Given the description of an element on the screen output the (x, y) to click on. 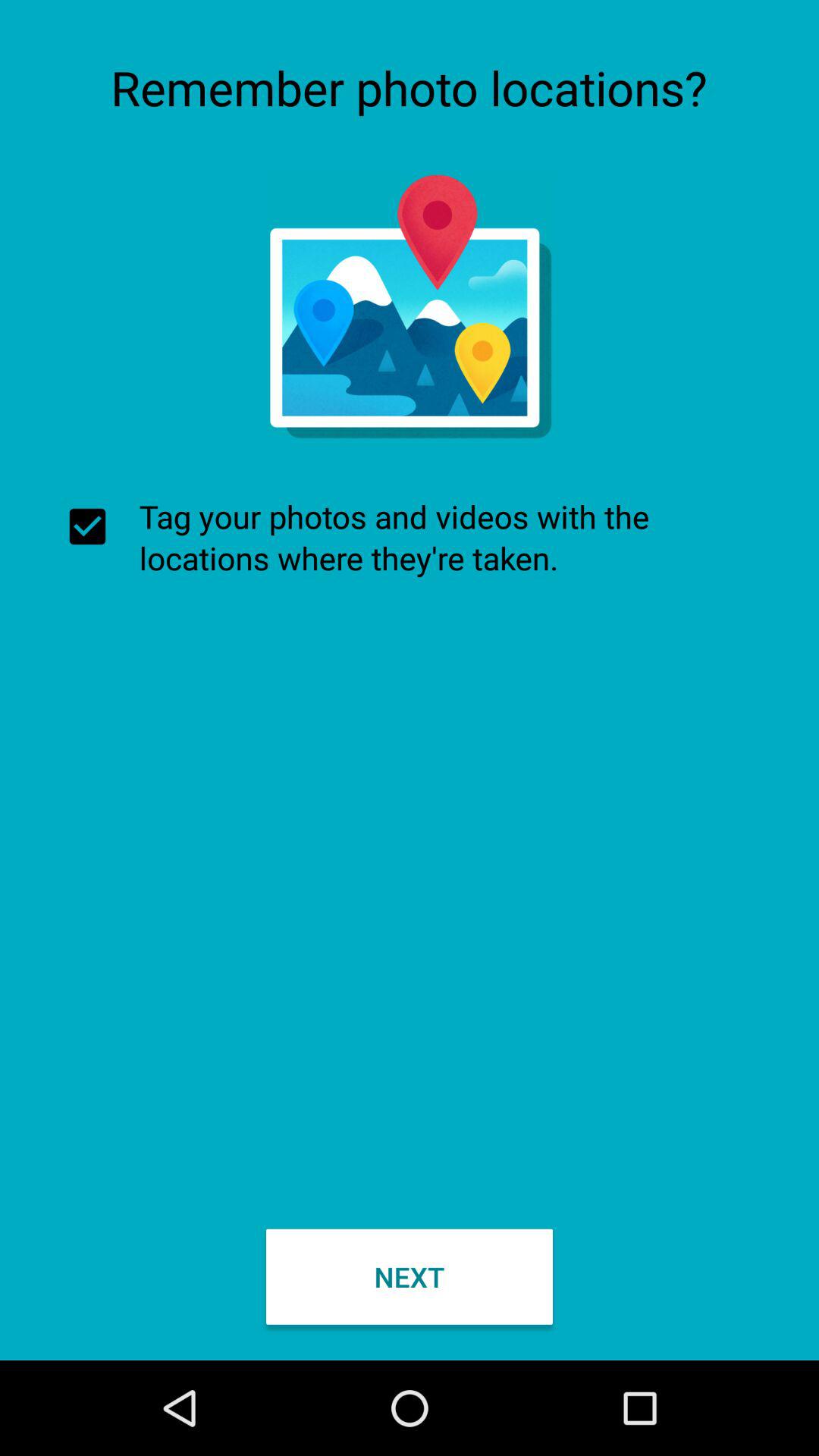
press next button (409, 1276)
